Given the description of an element on the screen output the (x, y) to click on. 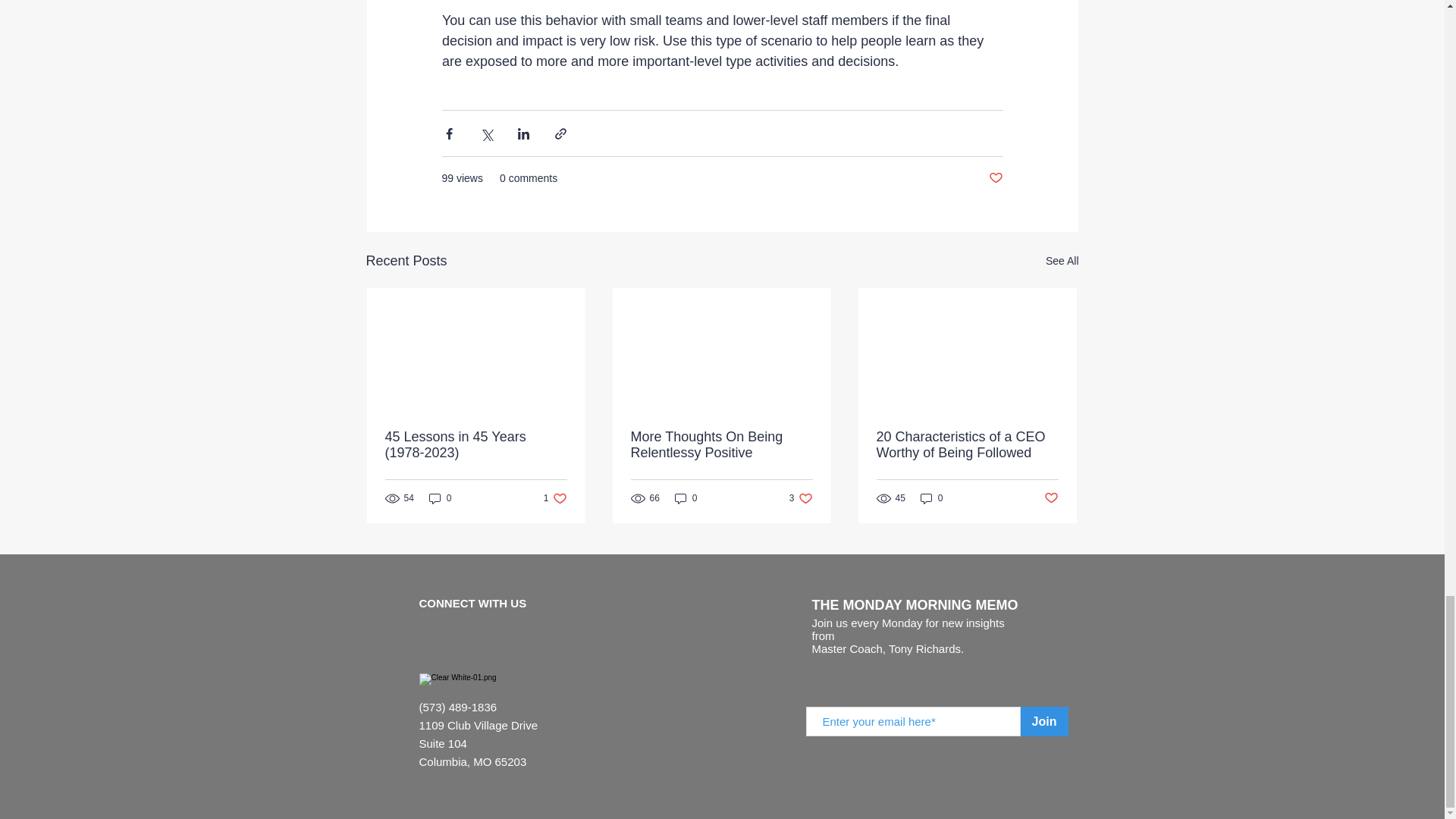
Join (1044, 721)
See All (555, 498)
More Thoughts On Being Relentlessy Positive (1061, 260)
20 Characteristics of a CEO Worthy of Being Followed (721, 445)
Post not marked as liked (967, 445)
Post not marked as liked (1050, 498)
0 (995, 178)
0 (800, 498)
0 (931, 498)
